Given the description of an element on the screen output the (x, y) to click on. 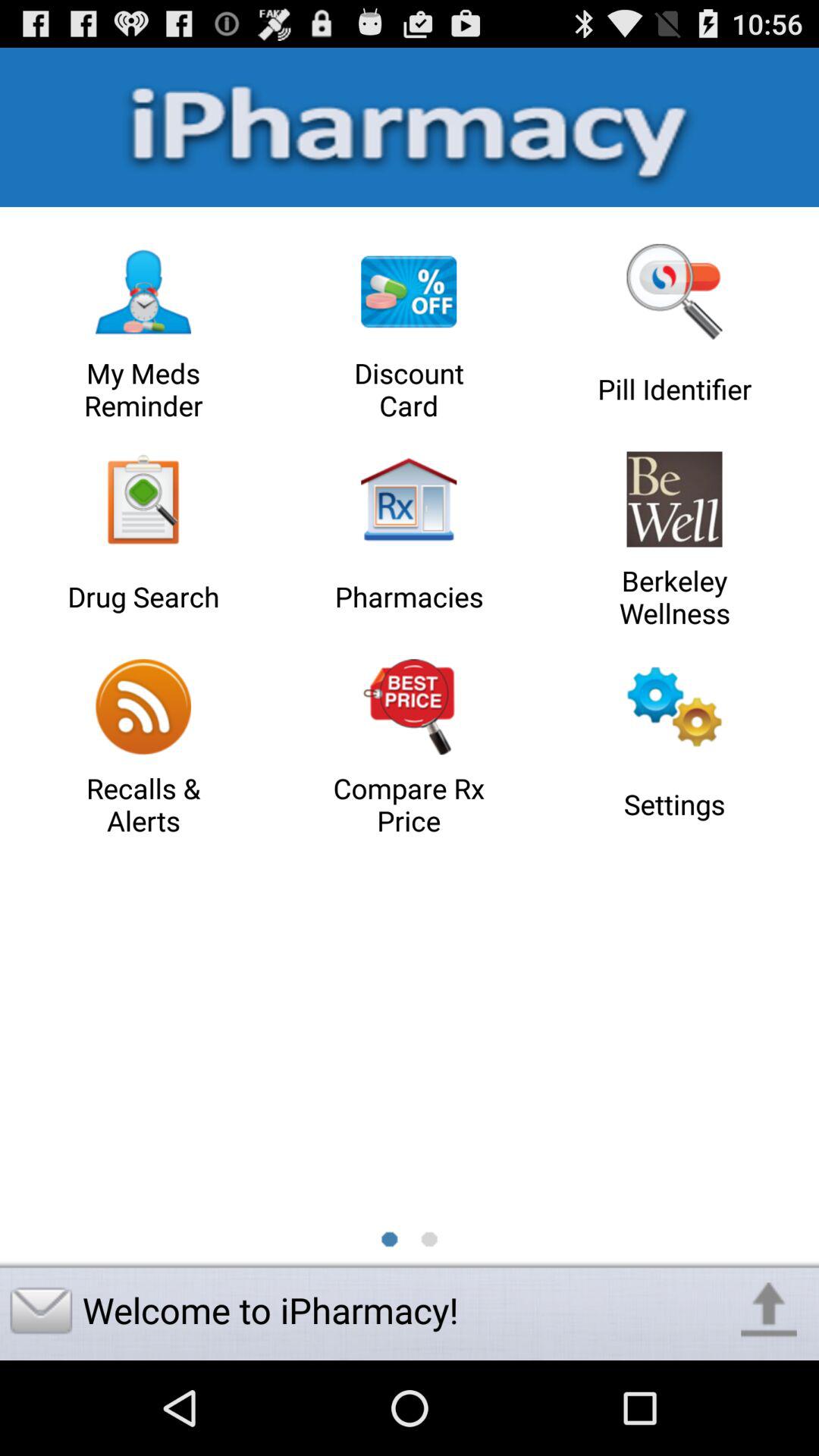
turn on item to the right of welcome to ipharmacy! icon (768, 1310)
